Given the description of an element on the screen output the (x, y) to click on. 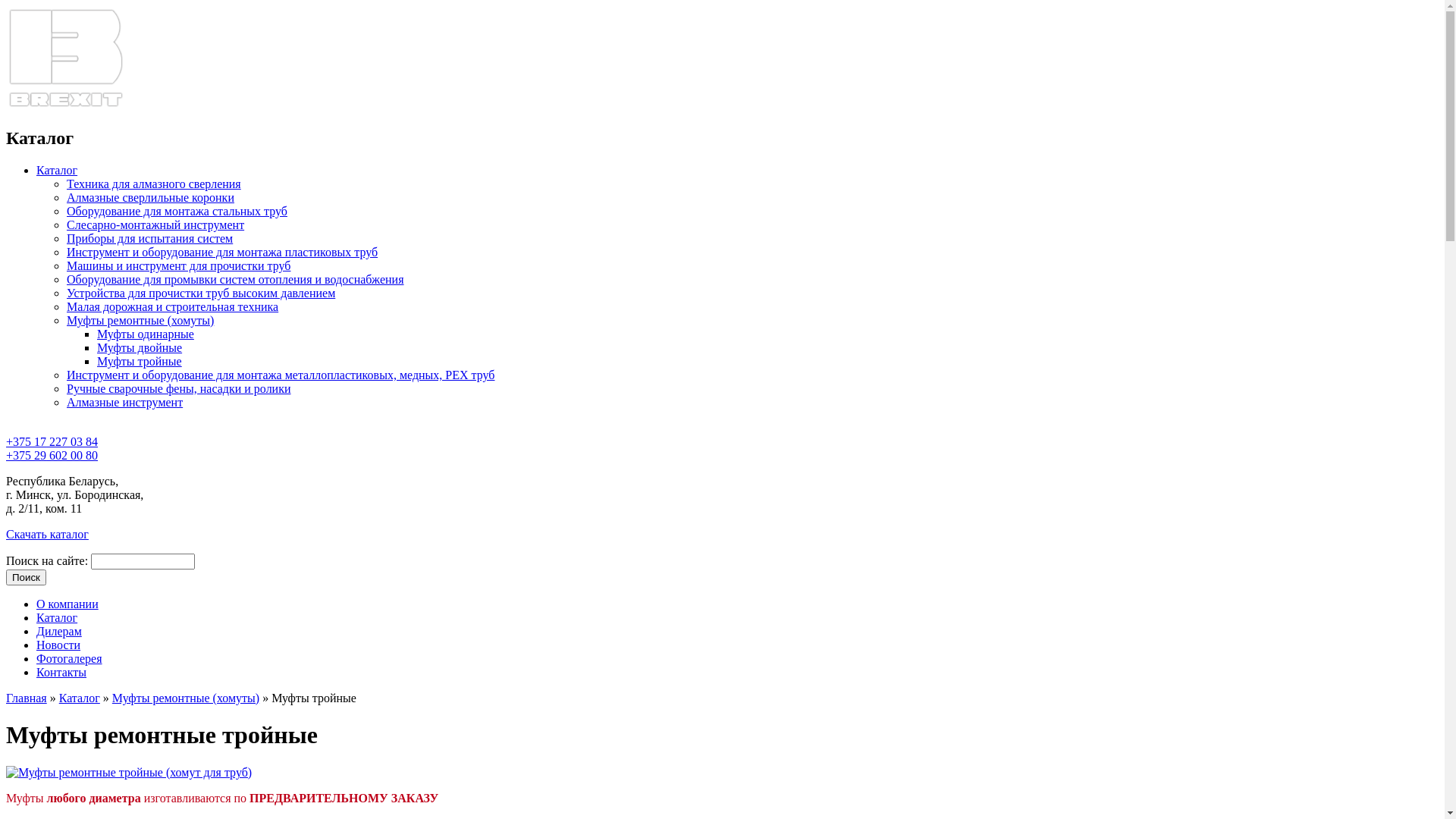
+375 29 602 00 80 Element type: text (51, 454)
+375 17 227 03 84 Element type: text (51, 448)
